Given the description of an element on the screen output the (x, y) to click on. 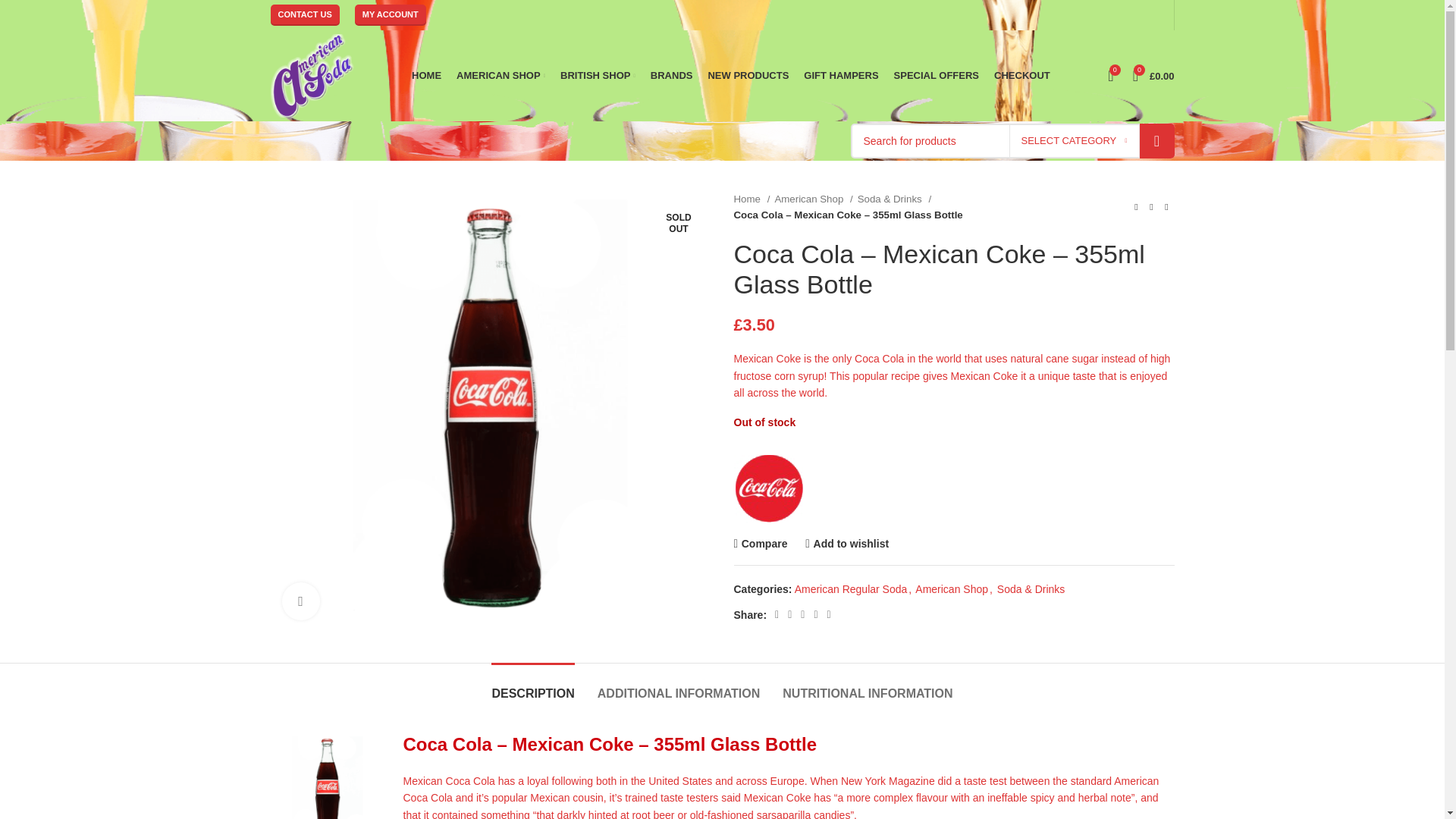
MY ACCOUNT (390, 14)
Search for products (1012, 140)
Shopping cart (1153, 75)
HOME (426, 75)
Coca Cola (768, 488)
CONTACT US (304, 14)
AMERICAN SHOP (500, 75)
SELECT CATEGORY (1073, 141)
